Given the description of an element on the screen output the (x, y) to click on. 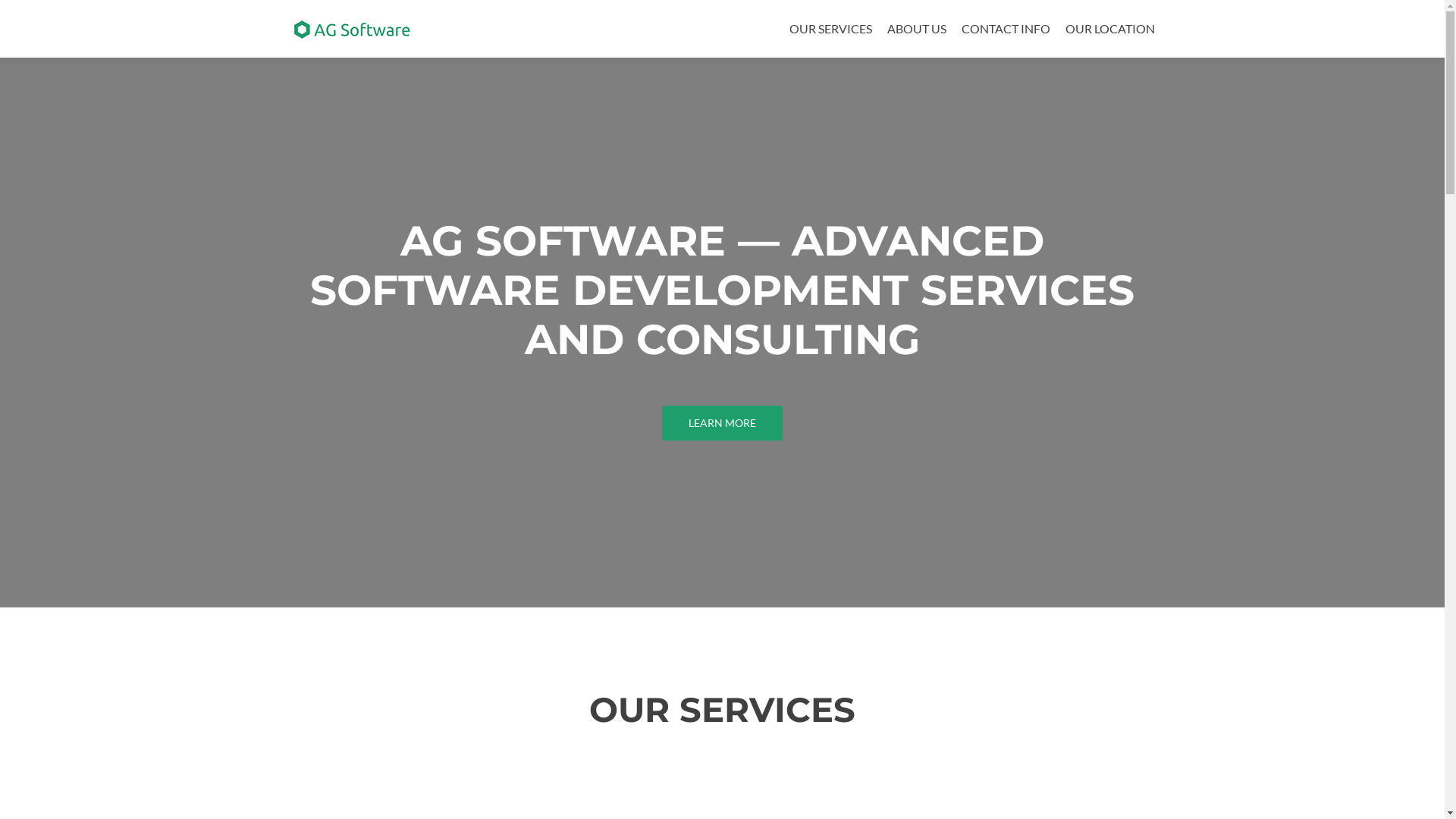
LEARN MORE Element type: text (722, 422)
ABOUT US Element type: text (916, 28)
CONTACT INFO Element type: text (1005, 28)
OUR SERVICES Element type: text (829, 28)
OUR LOCATION Element type: text (1109, 28)
